Given the description of an element on the screen output the (x, y) to click on. 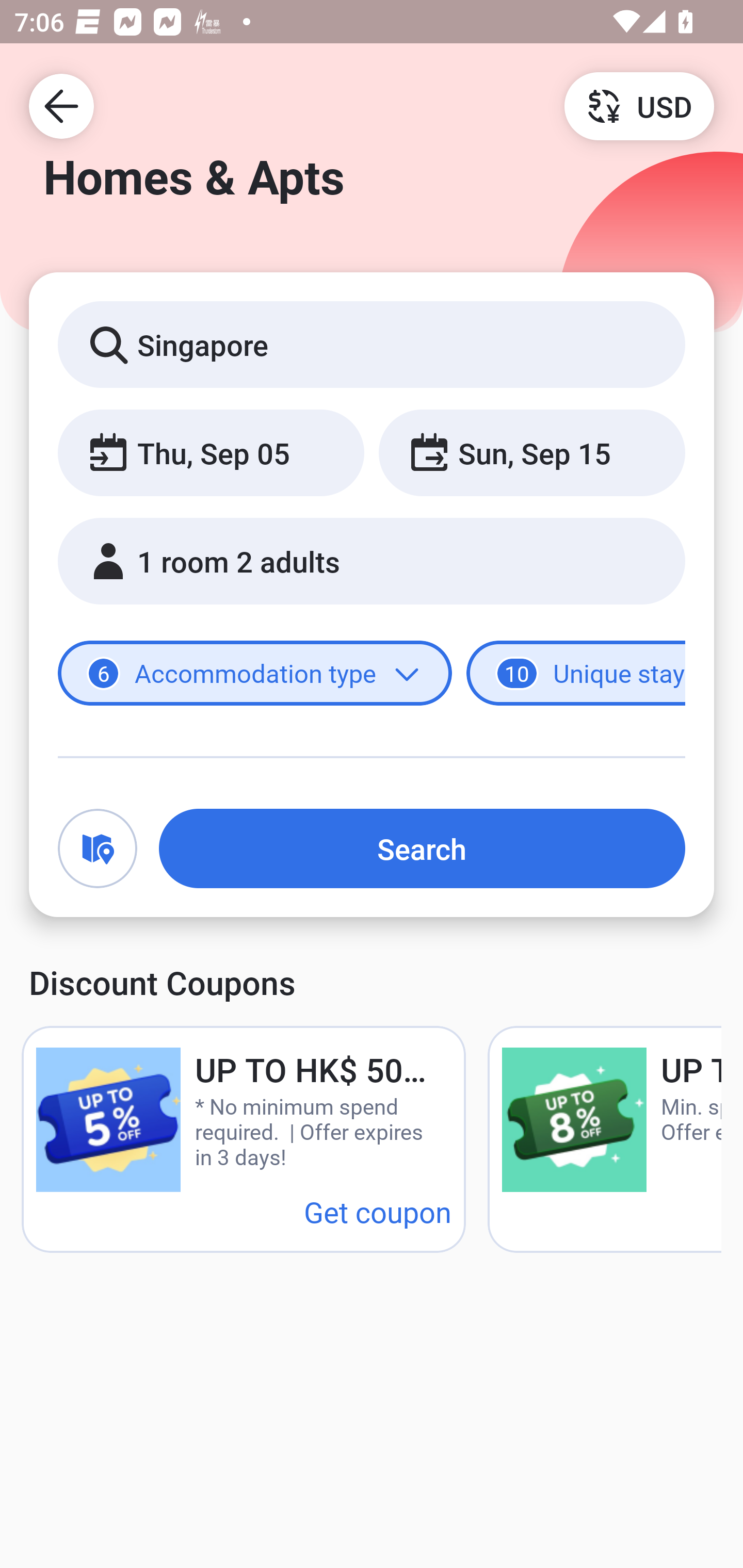
USD (639, 105)
Singapore (371, 344)
Thu, Sep 05 (210, 452)
Sun, Sep 15 (531, 452)
1 room 2 adults (371, 561)
6 Accommodation type (254, 673)
10 Unique stays (575, 673)
Search (422, 848)
Get coupon (377, 1211)
